Given the description of an element on the screen output the (x, y) to click on. 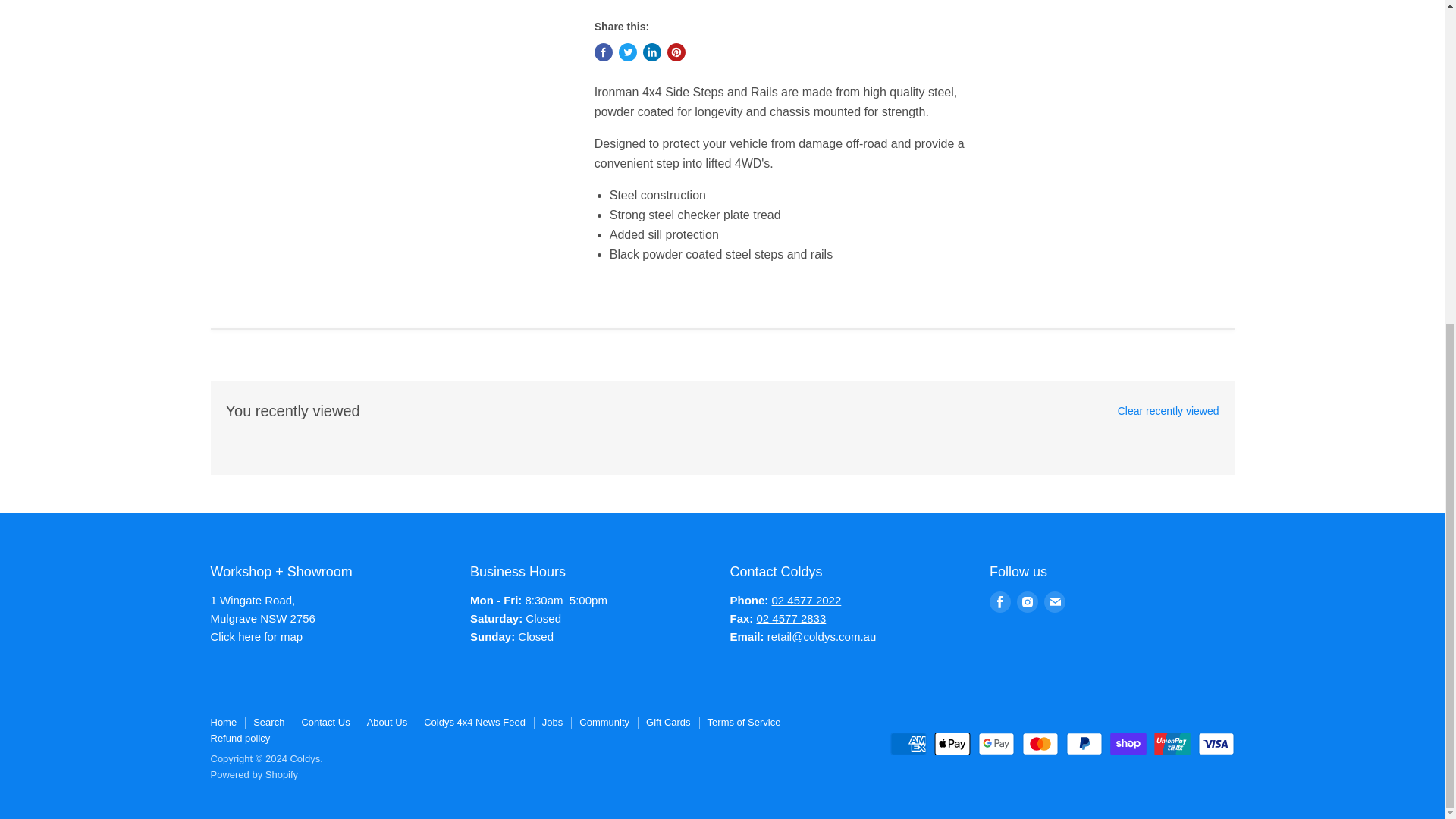
tel:0245772833 (792, 617)
American Express (907, 743)
Google Maps (256, 635)
tel:0245772022 (806, 599)
Email (1054, 601)
Instagram (1027, 601)
click here to email us (821, 635)
Facebook (1000, 601)
